Given the description of an element on the screen output the (x, y) to click on. 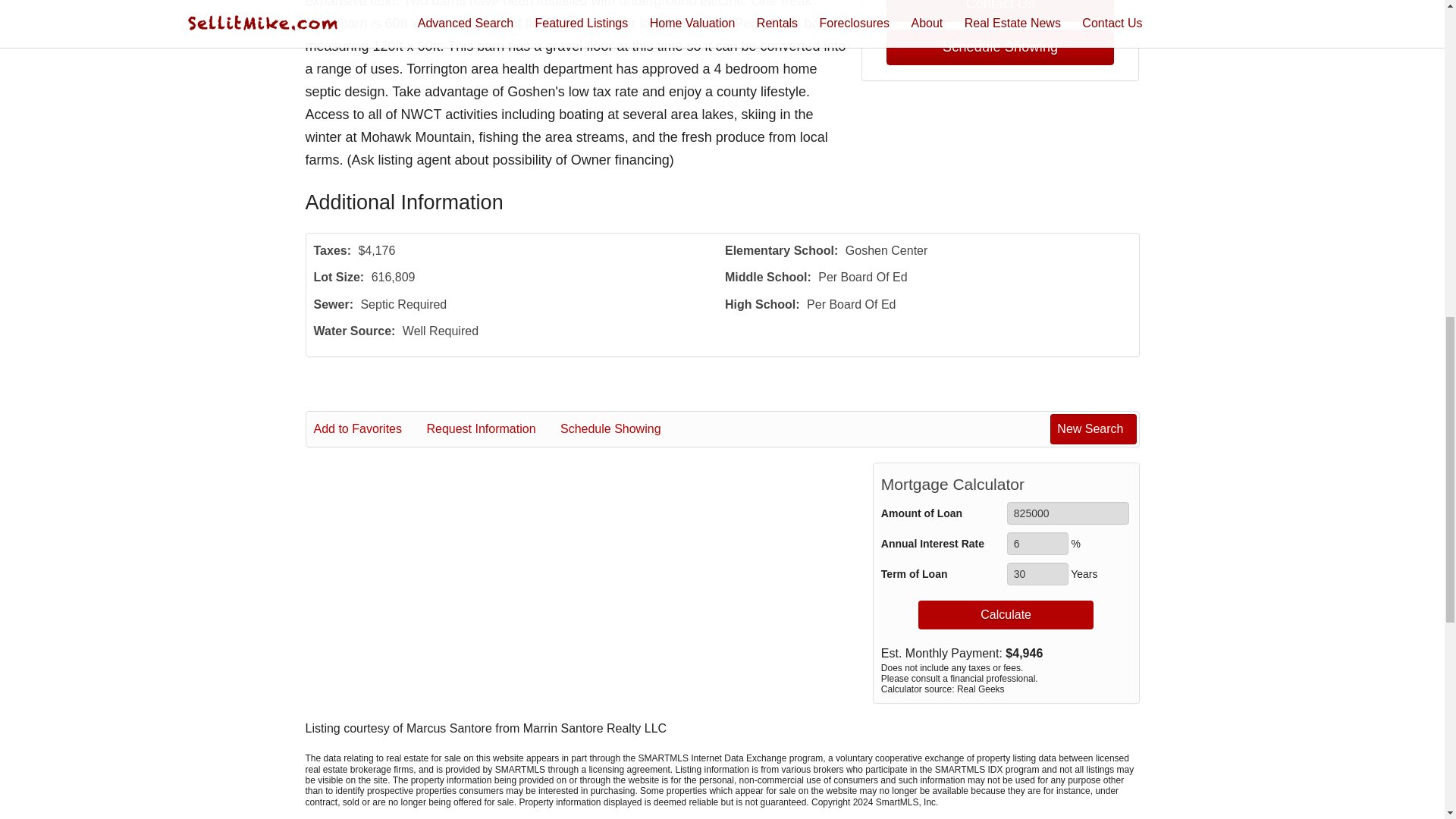
6 (1037, 543)
825000 (1068, 513)
30 (1037, 573)
